Given the description of an element on the screen output the (x, y) to click on. 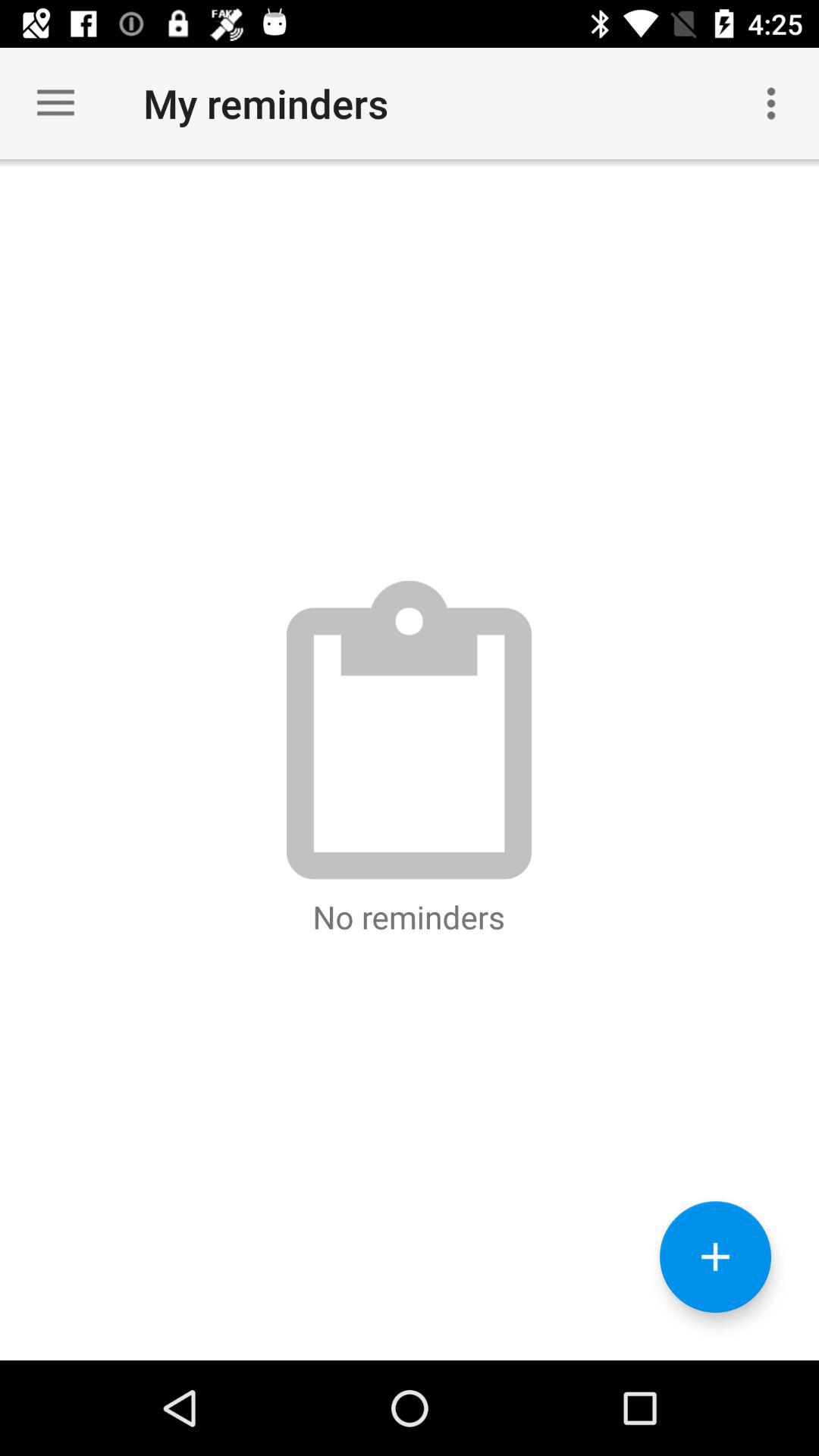
open item at the top right corner (771, 103)
